Given the description of an element on the screen output the (x, y) to click on. 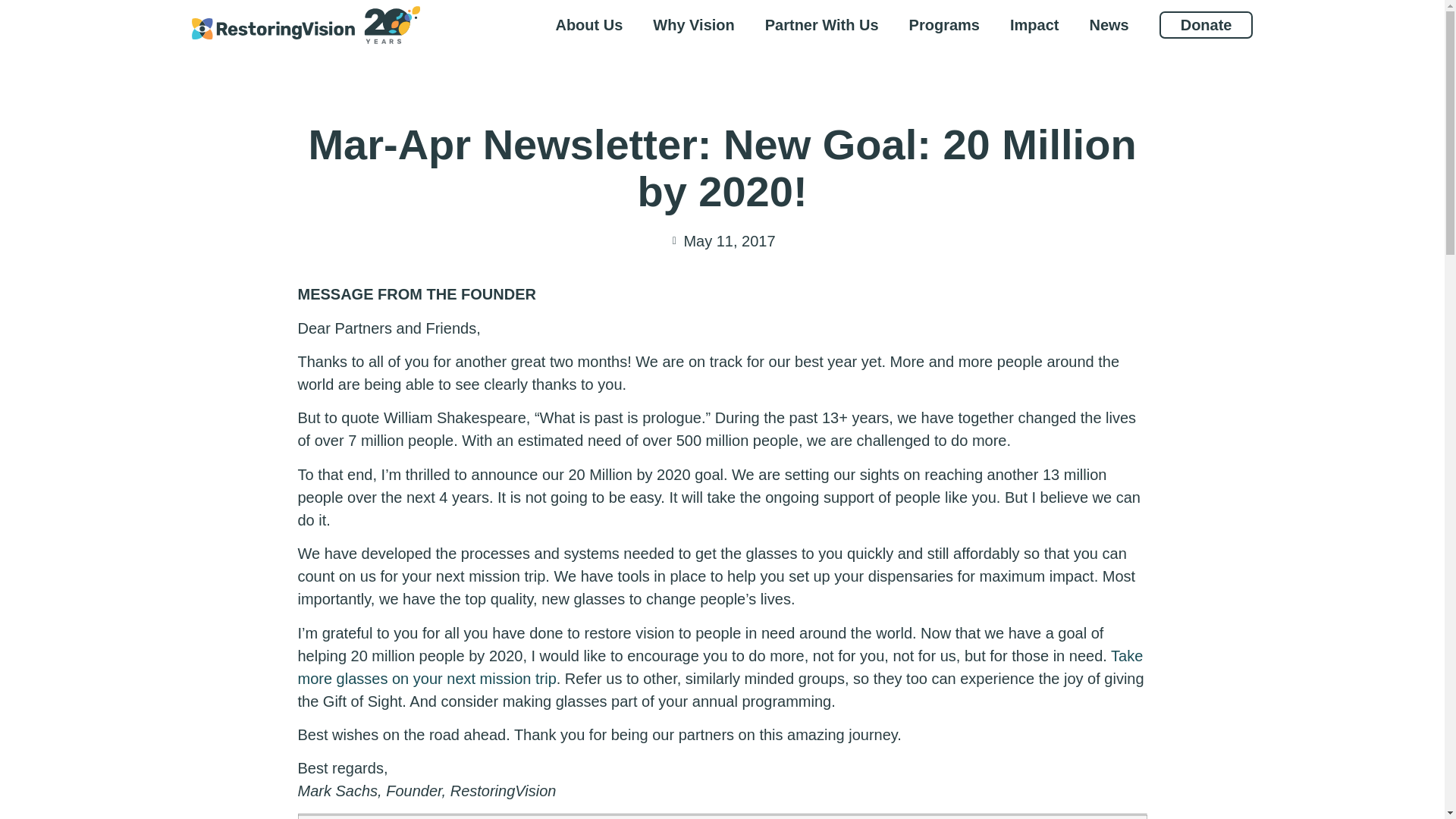
Why Vision (693, 24)
Donate (1205, 24)
About Us (588, 24)
News (1108, 24)
Partner With Us (821, 24)
Programs (943, 24)
Impact (1034, 24)
